Given the description of an element on the screen output the (x, y) to click on. 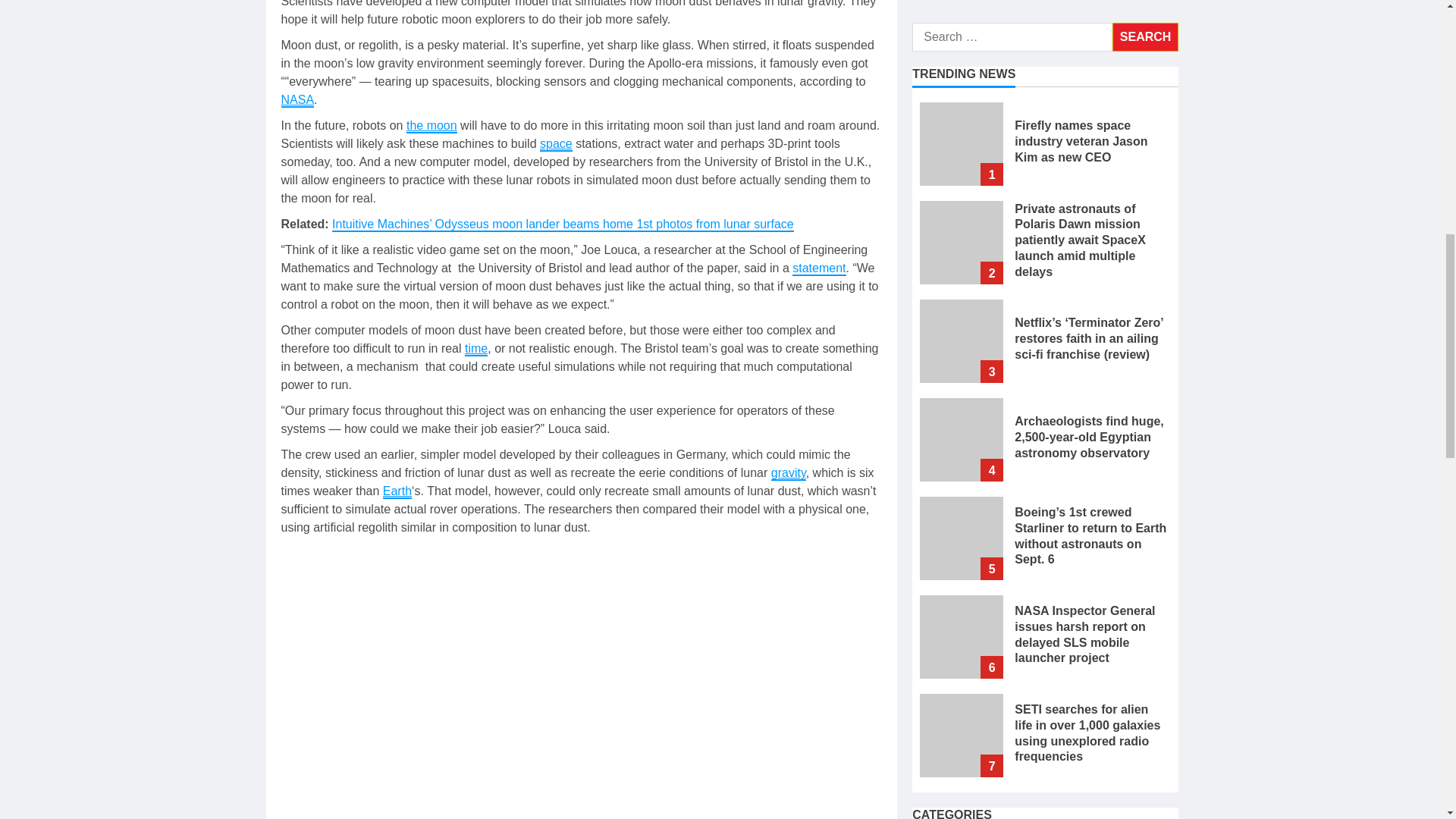
NASA (297, 100)
space (556, 144)
the moon (431, 125)
